Given the description of an element on the screen output the (x, y) to click on. 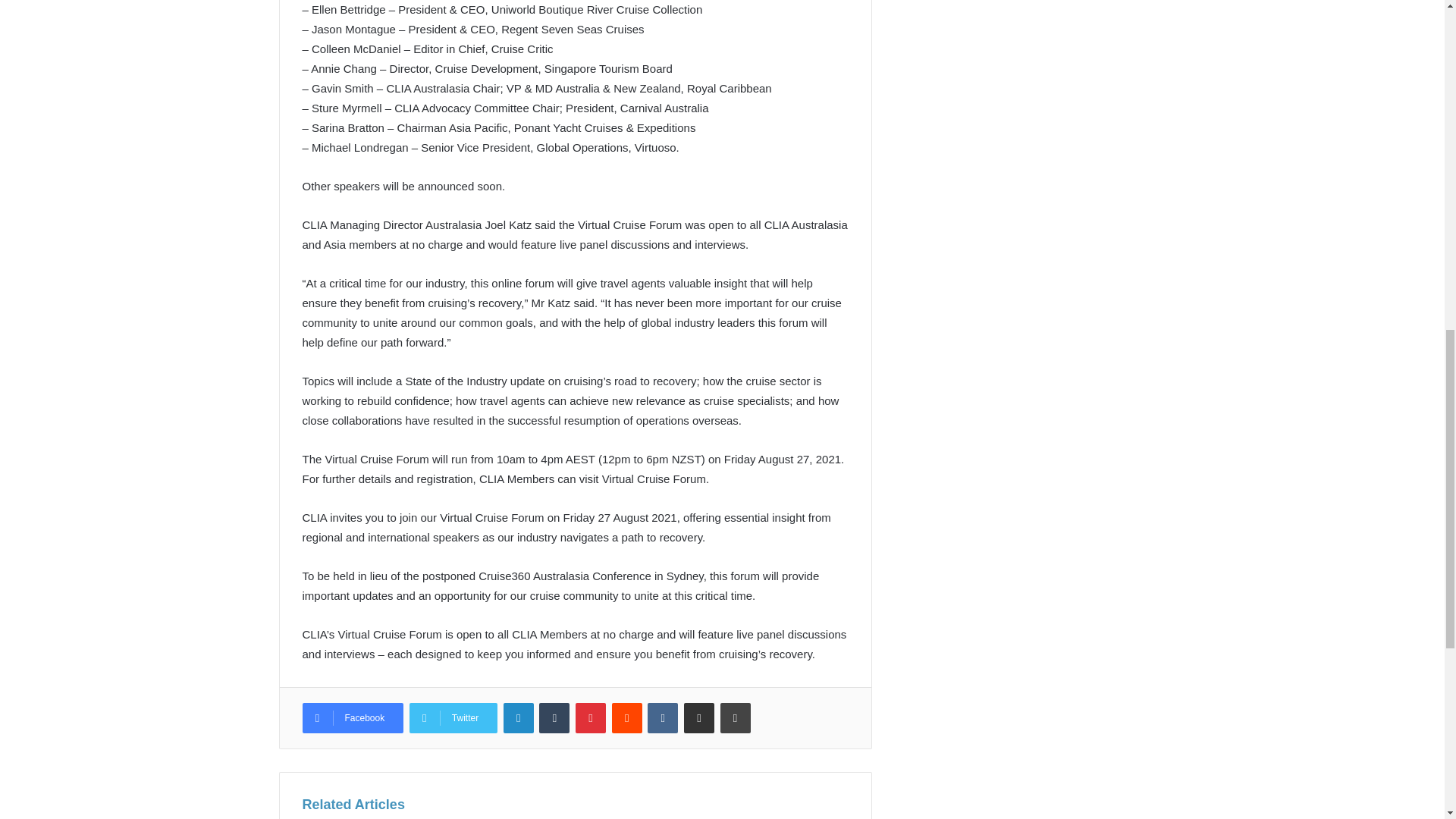
Pinterest (590, 717)
Share via Email (699, 717)
Facebook (352, 717)
Twitter (453, 717)
LinkedIn (518, 717)
Reddit (626, 717)
Tumblr (553, 717)
Print (735, 717)
VKontakte (662, 717)
